Given the description of an element on the screen output the (x, y) to click on. 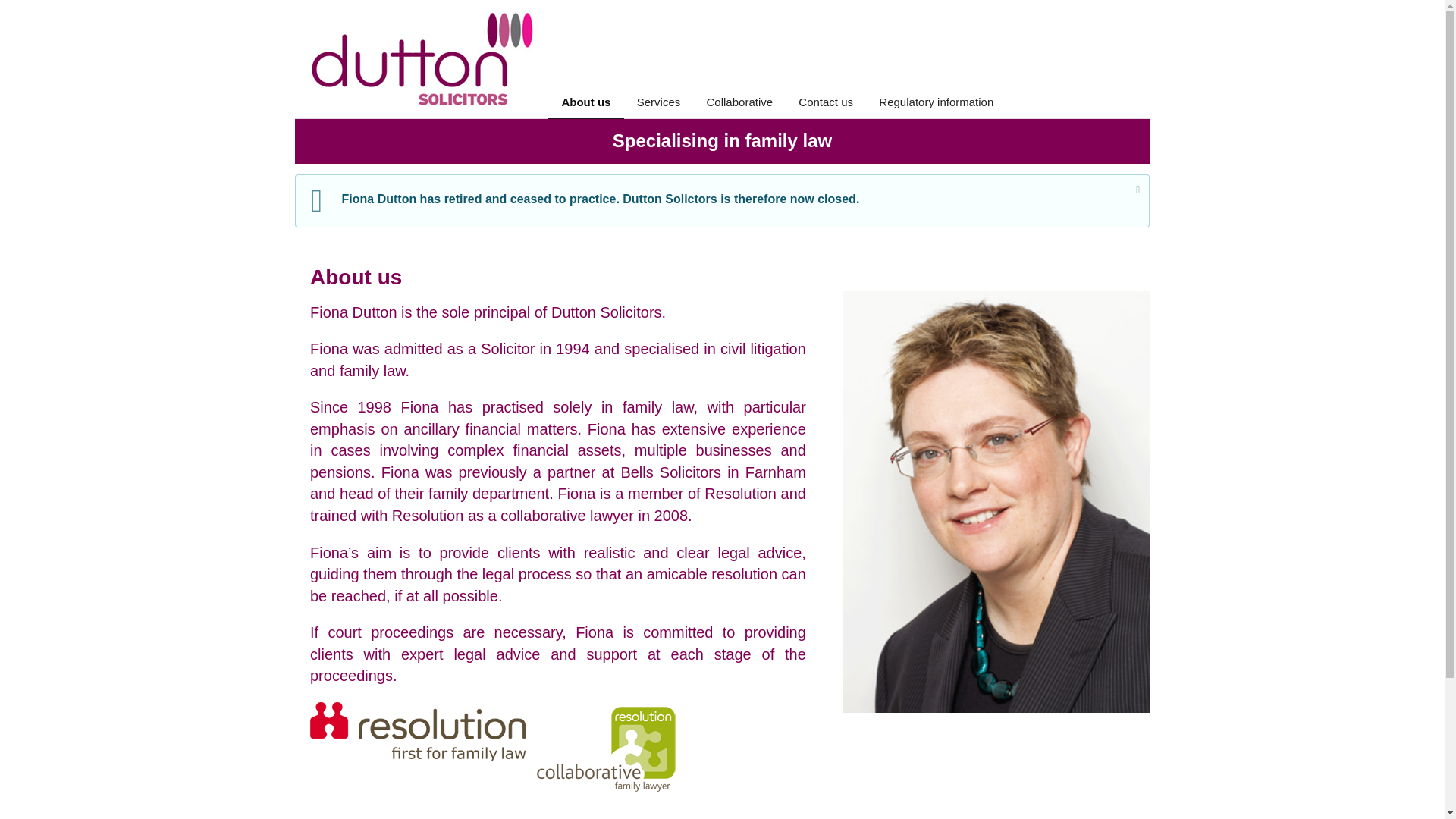
Regulatory information (936, 102)
Services (659, 102)
Contact us (826, 102)
Collaborative (739, 102)
About us (585, 102)
